Given the description of an element on the screen output the (x, y) to click on. 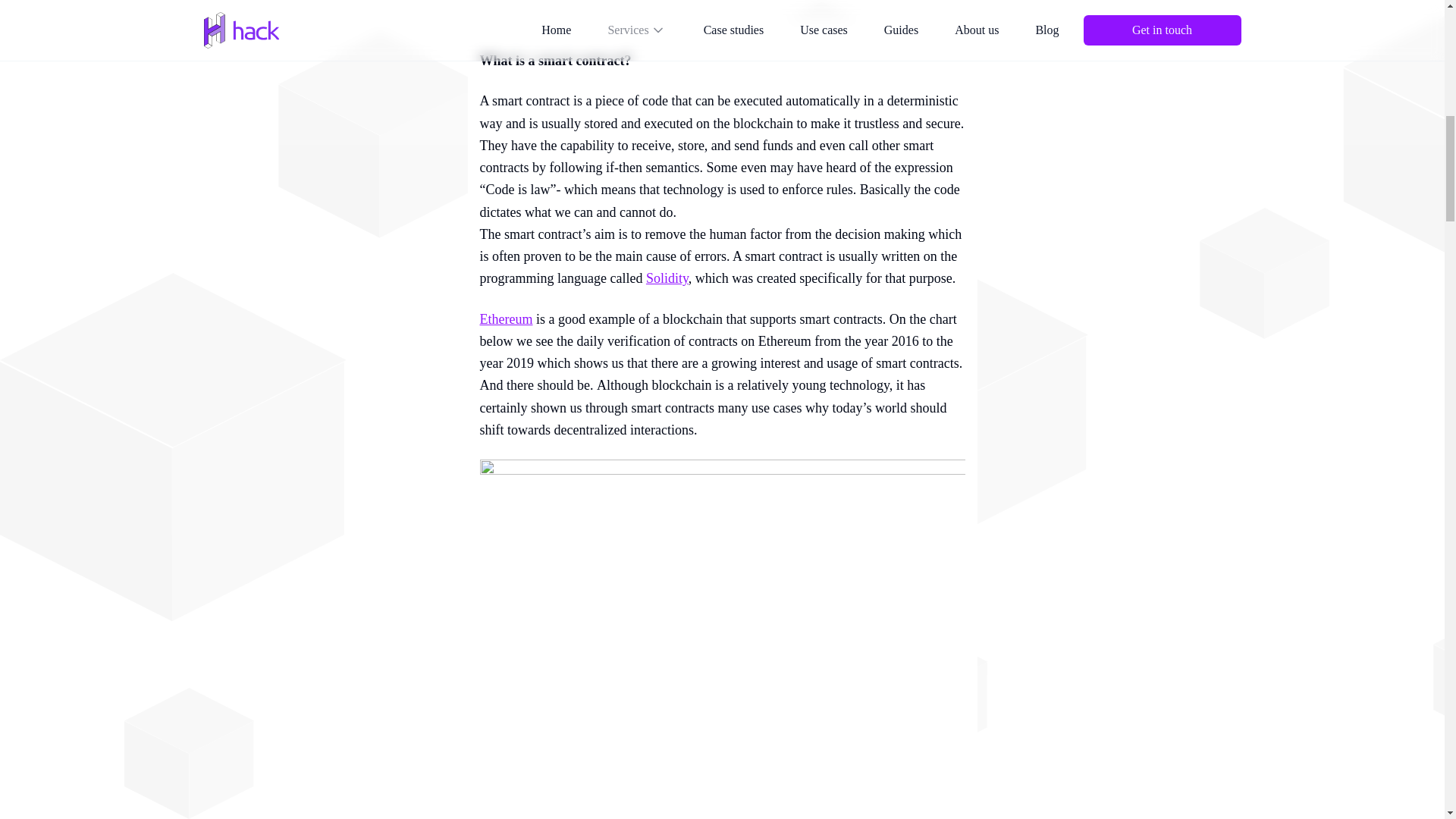
Ethereum (505, 318)
Solidity (667, 278)
